Given the description of an element on the screen output the (x, y) to click on. 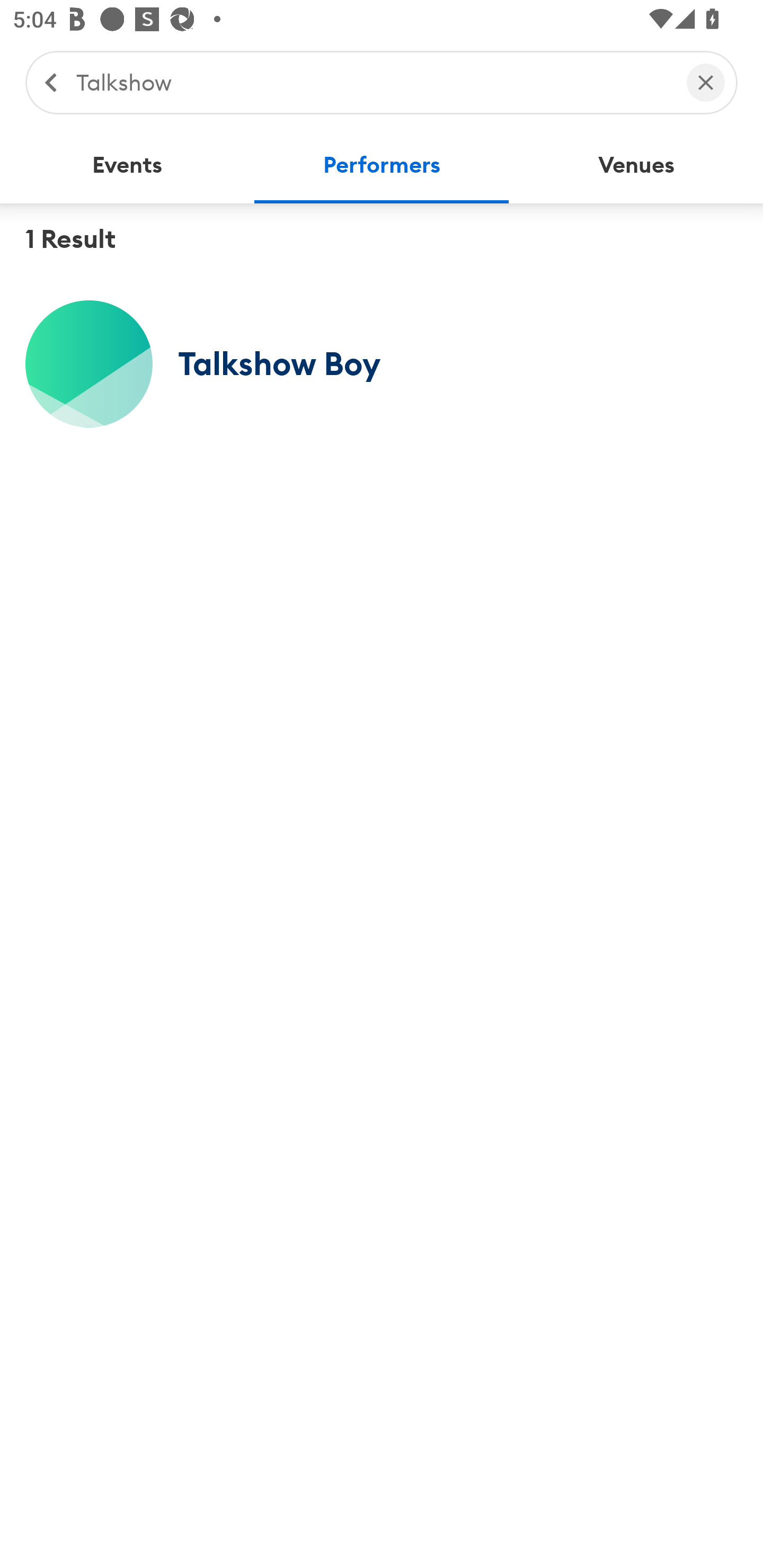
Talkshow (371, 81)
Clear Search (705, 81)
Events (127, 165)
Venues (635, 165)
Talkshow Boy (381, 363)
